Given the description of an element on the screen output the (x, y) to click on. 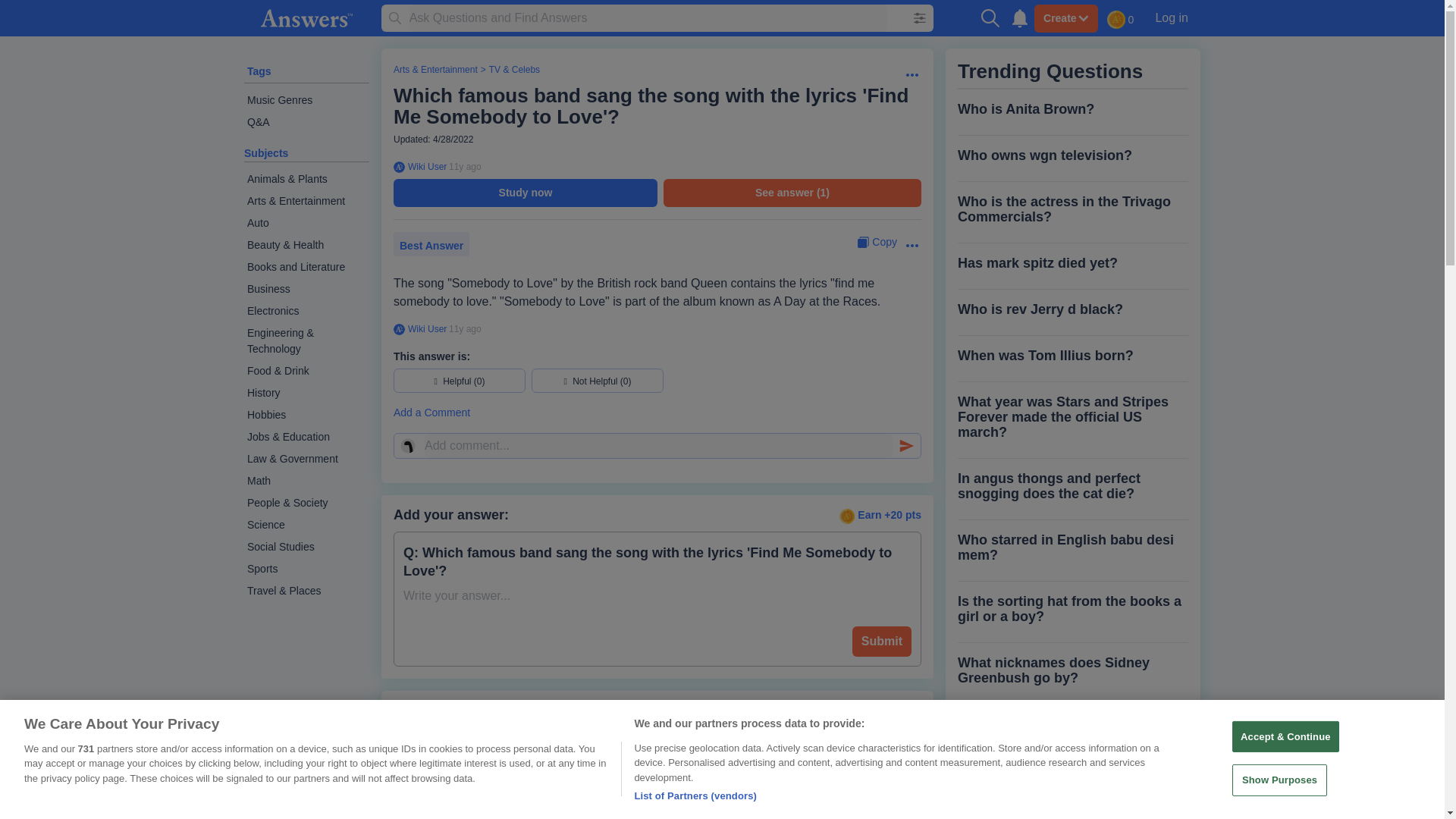
Electronics (306, 311)
Music Genres (306, 100)
Auto (306, 223)
Add a Comment (657, 412)
Tags (258, 70)
2013-07-11 04:31:30 (464, 166)
2013-07-11 04:31:30 (464, 328)
Subjects (266, 152)
Create (1065, 18)
Business (306, 289)
Sports (306, 568)
Log in (1170, 17)
Copy (876, 242)
History (306, 393)
Study now (525, 193)
